Given the description of an element on the screen output the (x, y) to click on. 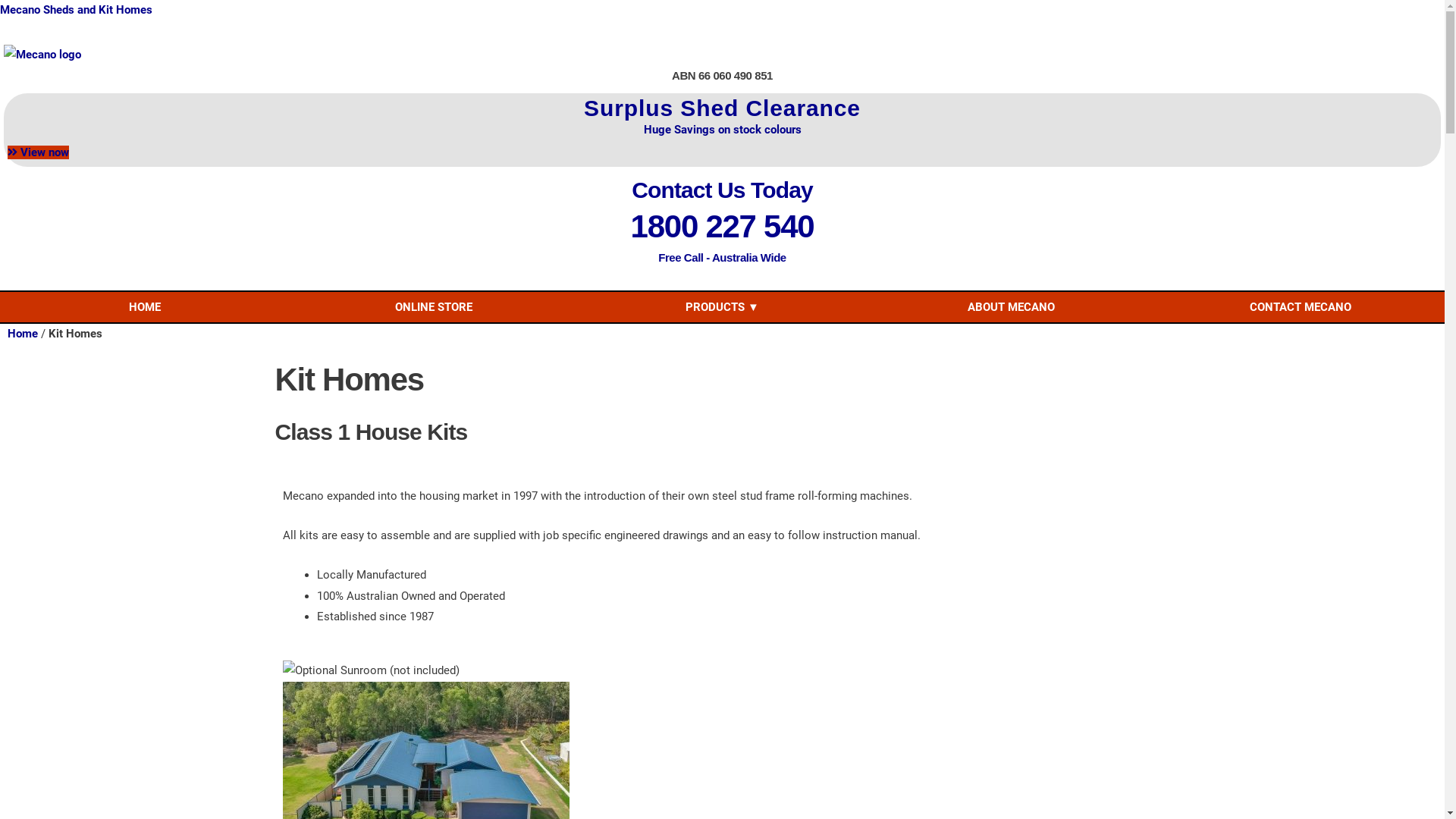
CONTACT MECANO Element type: text (1299, 306)
Free Call - Australia Wide Element type: text (722, 257)
View now Element type: text (38, 152)
HOME Element type: text (144, 306)
Huge Savings on stock colours Element type: text (721, 129)
Surplus Shed Clearance Element type: text (721, 107)
ONLINE STORE Element type: text (432, 306)
Contact Us Today Element type: text (721, 189)
Home Element type: text (22, 333)
ABOUT MECANO Element type: text (1010, 306)
1800 227 540 Element type: text (722, 226)
Mecano logo Element type: hover (42, 54)
Mecano Sheds and Kit Homes Element type: text (76, 9)
